Given the description of an element on the screen output the (x, y) to click on. 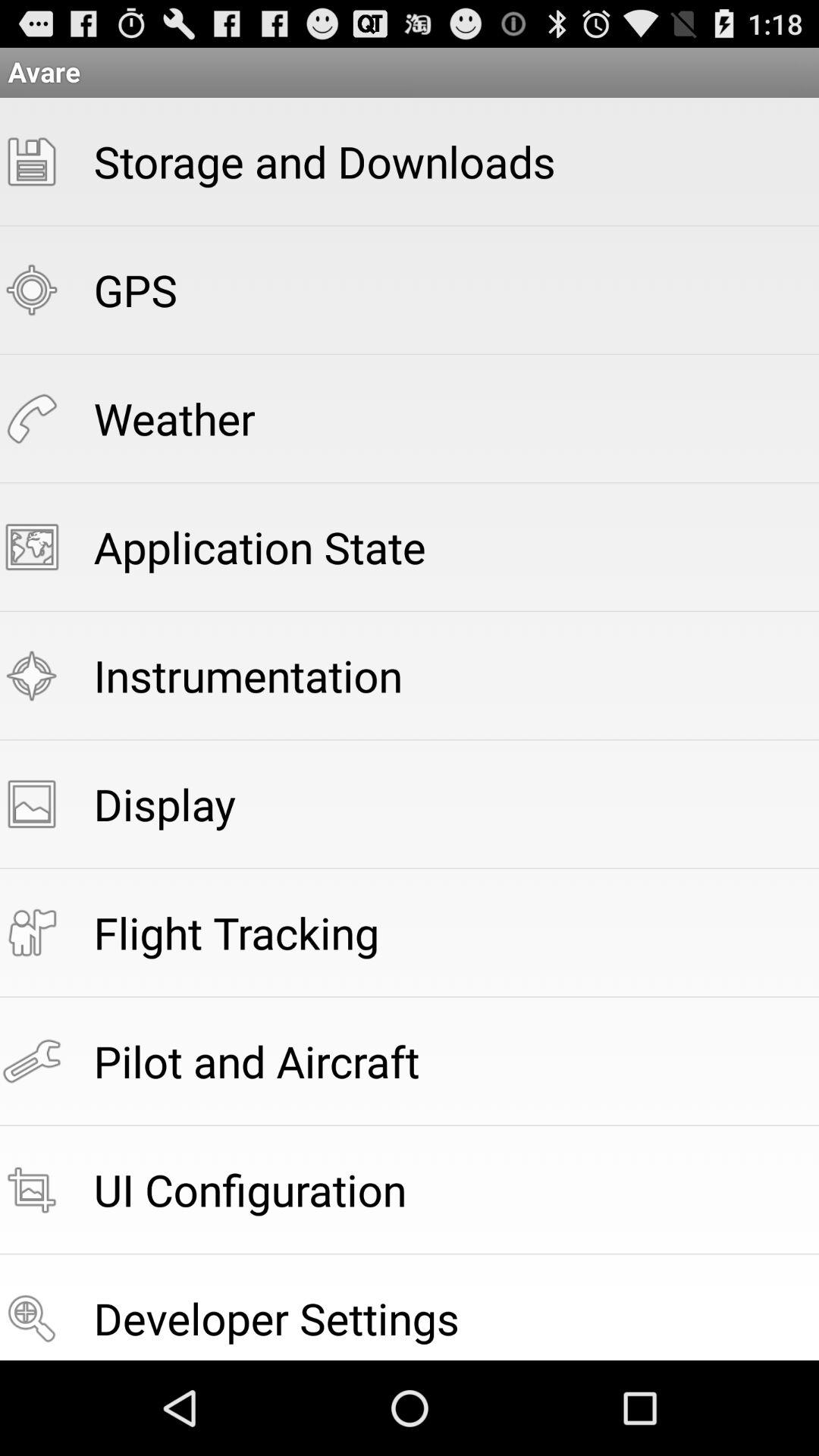
tap item above gps (324, 160)
